Given the description of an element on the screen output the (x, y) to click on. 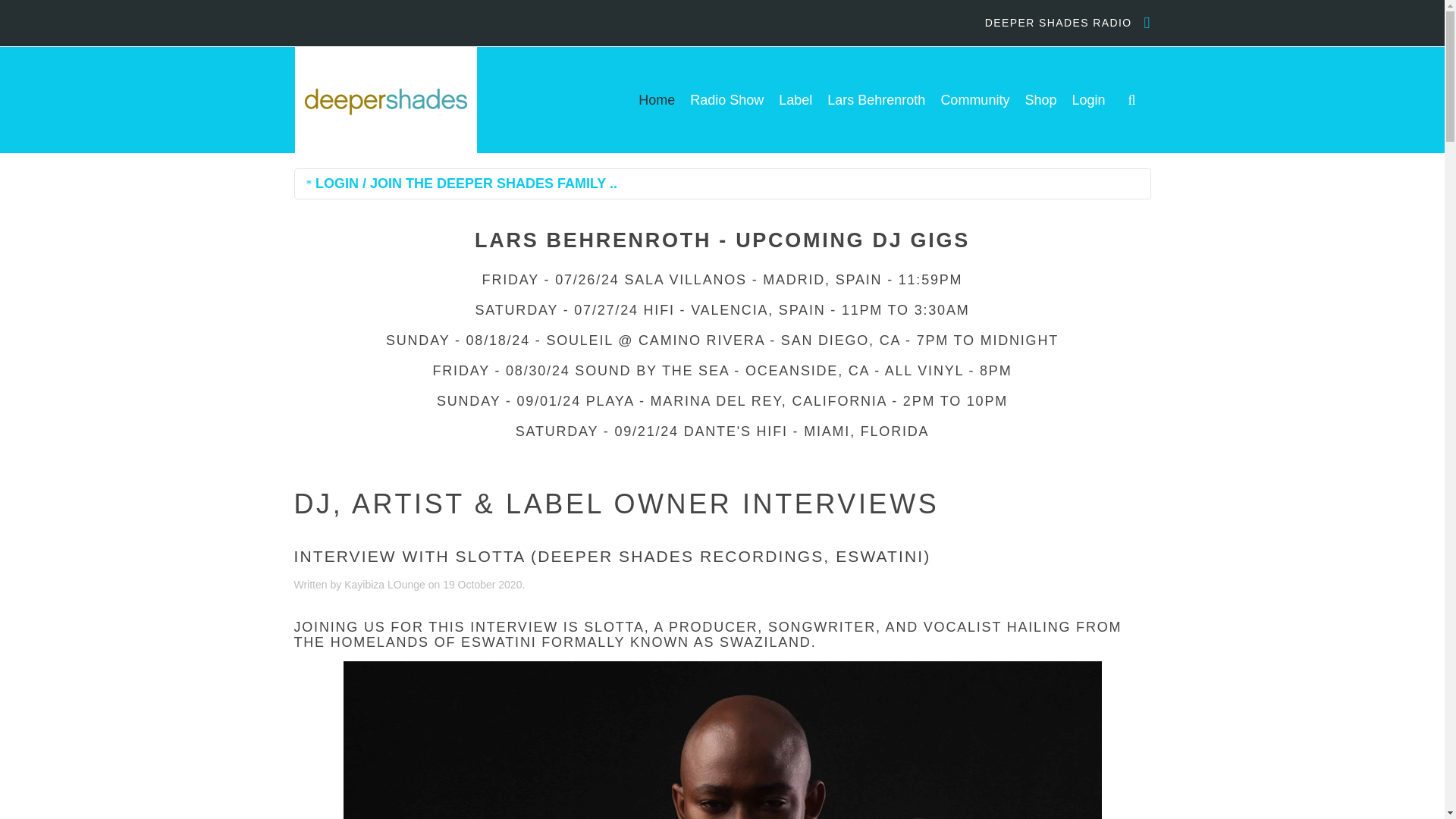
Lars Behrenroth (875, 99)
